Given the description of an element on the screen output the (x, y) to click on. 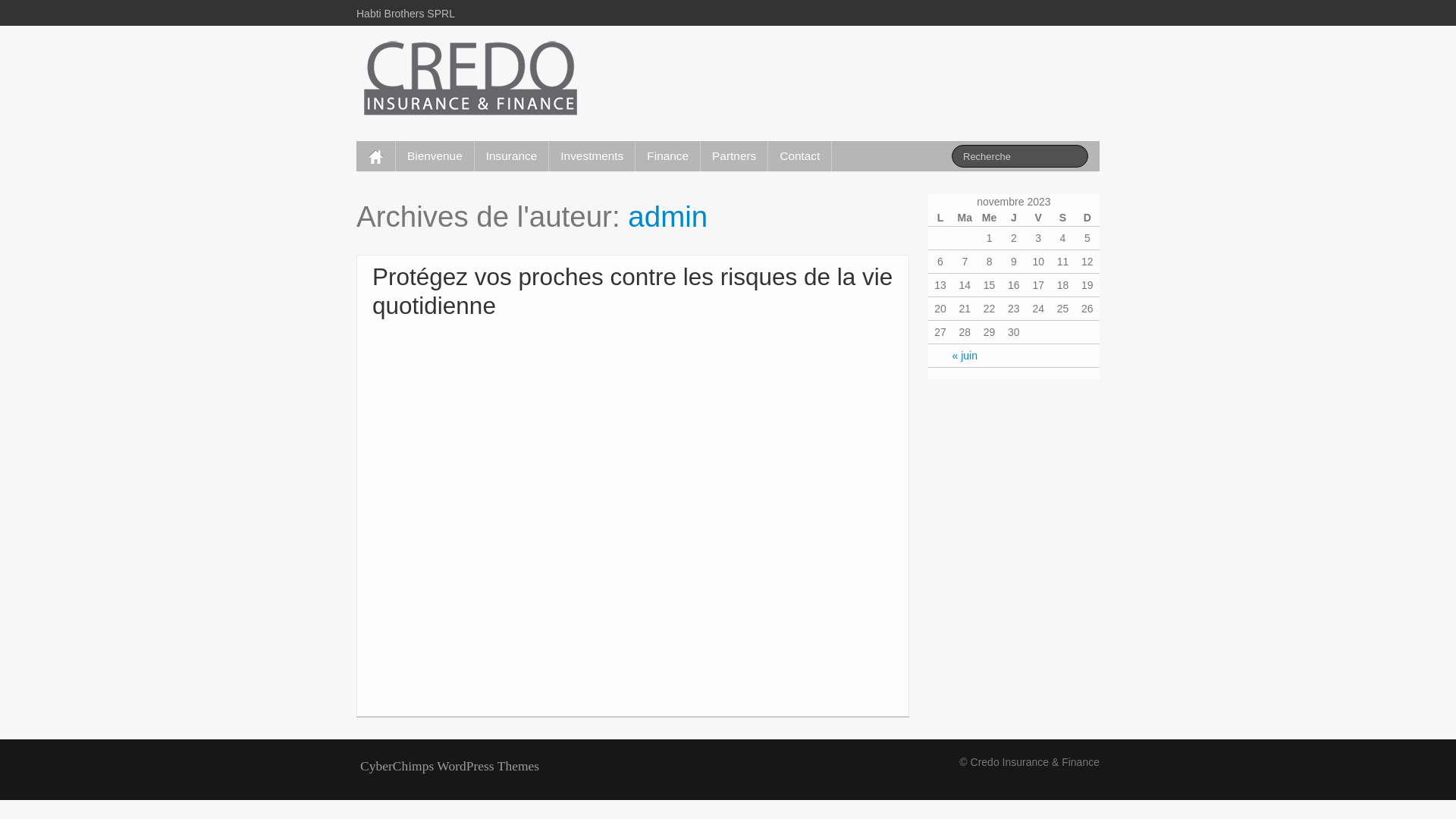
Insurance Element type: text (511, 156)
Contact Element type: text (799, 156)
Credo Insurance & Finance  Element type: hover (469, 80)
Investments Element type: text (591, 156)
admin Element type: text (667, 216)
Bienvenue Element type: text (434, 156)
Partners Element type: text (733, 156)
Finance Element type: text (667, 156)
